Given the description of an element on the screen output the (x, y) to click on. 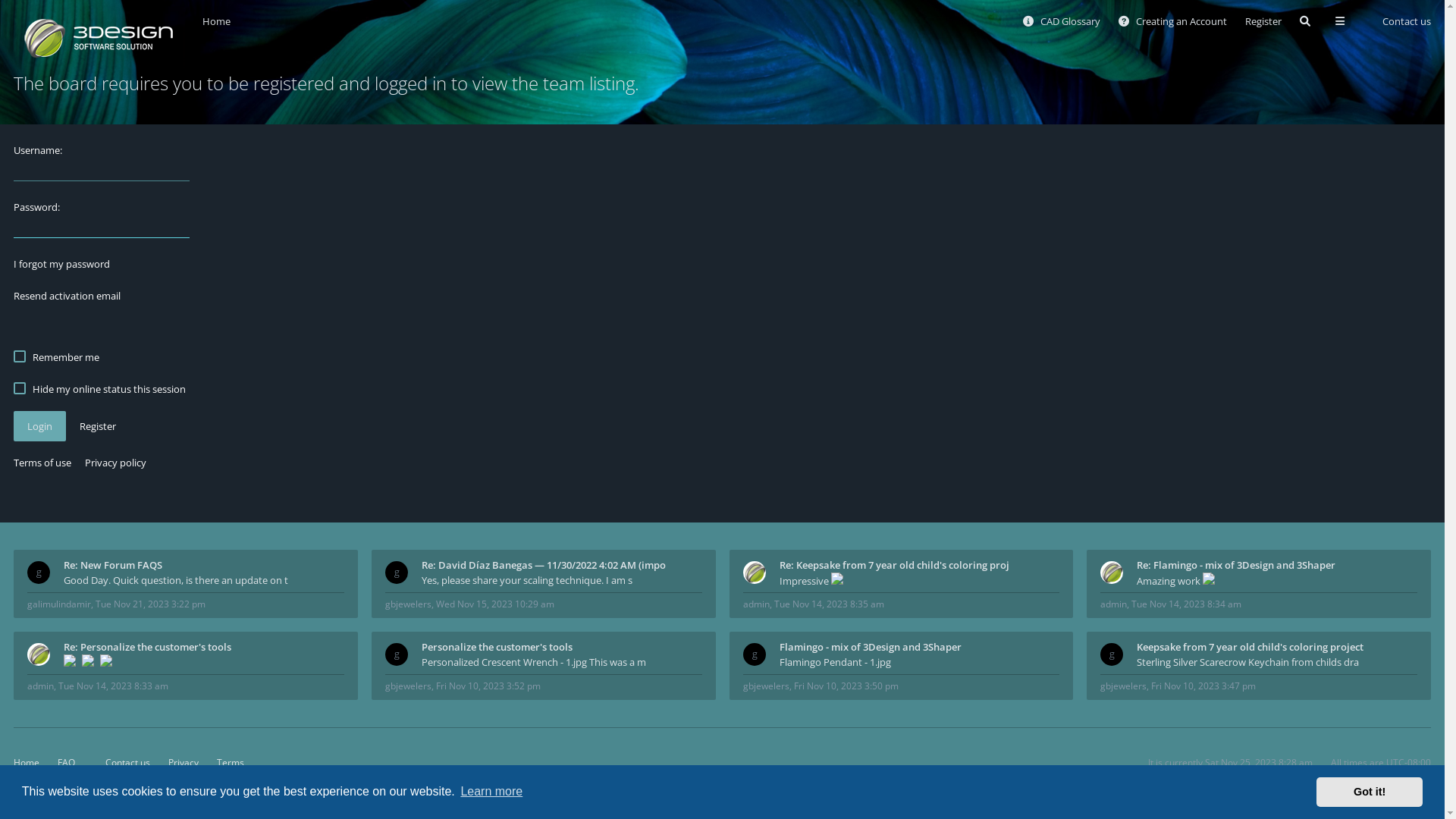
CAD Glossary Element type: text (1061, 20)
admin Element type: text (40, 685)
Contact us Element type: text (121, 762)
Re: New Forum FAQS Element type: text (203, 564)
Fri Nov 10, 2023 3:47 pm Element type: text (1203, 685)
Keepsake from 7 year old child's coloring project Element type: text (1276, 646)
Re: Personalize the customer's tools Element type: text (203, 646)
Privacy policy Element type: text (115, 462)
Terms of use Element type: text (42, 462)
Tue Nov 21, 2023 3:22 pm Element type: text (150, 603)
Re: Flamingo - mix of 3Design and 3Shaper Element type: text (1276, 564)
Impressive Element type: text (919, 580)
Re: Keepsake from 7 year old child's coloring proj Element type: text (919, 564)
Creating an Account Element type: text (1172, 20)
Flamingo Pendant - 1.jpg Element type: text (919, 661)
Tue Nov 14, 2023 8:33 am Element type: text (113, 685)
Terms Element type: text (230, 762)
Register Element type: text (97, 425)
I forgot my password Element type: text (61, 263)
Wed Nov 15, 2023 10:29 am Element type: text (495, 603)
gbjewelers Element type: text (1123, 685)
Good Day. Quick question, is there an update on t Element type: text (203, 579)
Privacy Element type: text (183, 762)
Home Element type: text (26, 762)
Sterling Silver Scarecrow Keychain from childs dra Element type: text (1276, 661)
FAQ Element type: text (66, 762)
Home Element type: text (216, 21)
Register Element type: text (1263, 20)
Fri Nov 10, 2023 3:52 pm Element type: text (488, 685)
admin Element type: text (756, 603)
Home Element type: hover (98, 37)
Flamingo - mix of 3Design and 3Shaper Element type: text (919, 646)
galimulindamir Element type: text (59, 603)
gbjewelers Element type: text (766, 685)
Fri Nov 10, 2023 3:50 pm Element type: text (845, 685)
gbjewelers Element type: text (408, 603)
Yes, please share your scaling technique. I am s Element type: text (561, 579)
Amazing work Element type: text (1276, 580)
Tue Nov 14, 2023 8:34 am Element type: text (1186, 603)
Resend activation email Element type: text (66, 295)
3design.com Element type: text (41, 784)
Tue Nov 14, 2023 8:35 am Element type: text (828, 603)
admin Element type: text (1113, 603)
Login Element type: text (39, 426)
gbjewelers Element type: text (408, 685)
Contact us Element type: text (1399, 20)
Personalize the customer's tools Element type: text (561, 646)
Learn more Element type: text (491, 791)
Personalized Crescent Wrench - 1.jpg This was a m Element type: text (561, 661)
Got it! Element type: text (1369, 791)
